Given the description of an element on the screen output the (x, y) to click on. 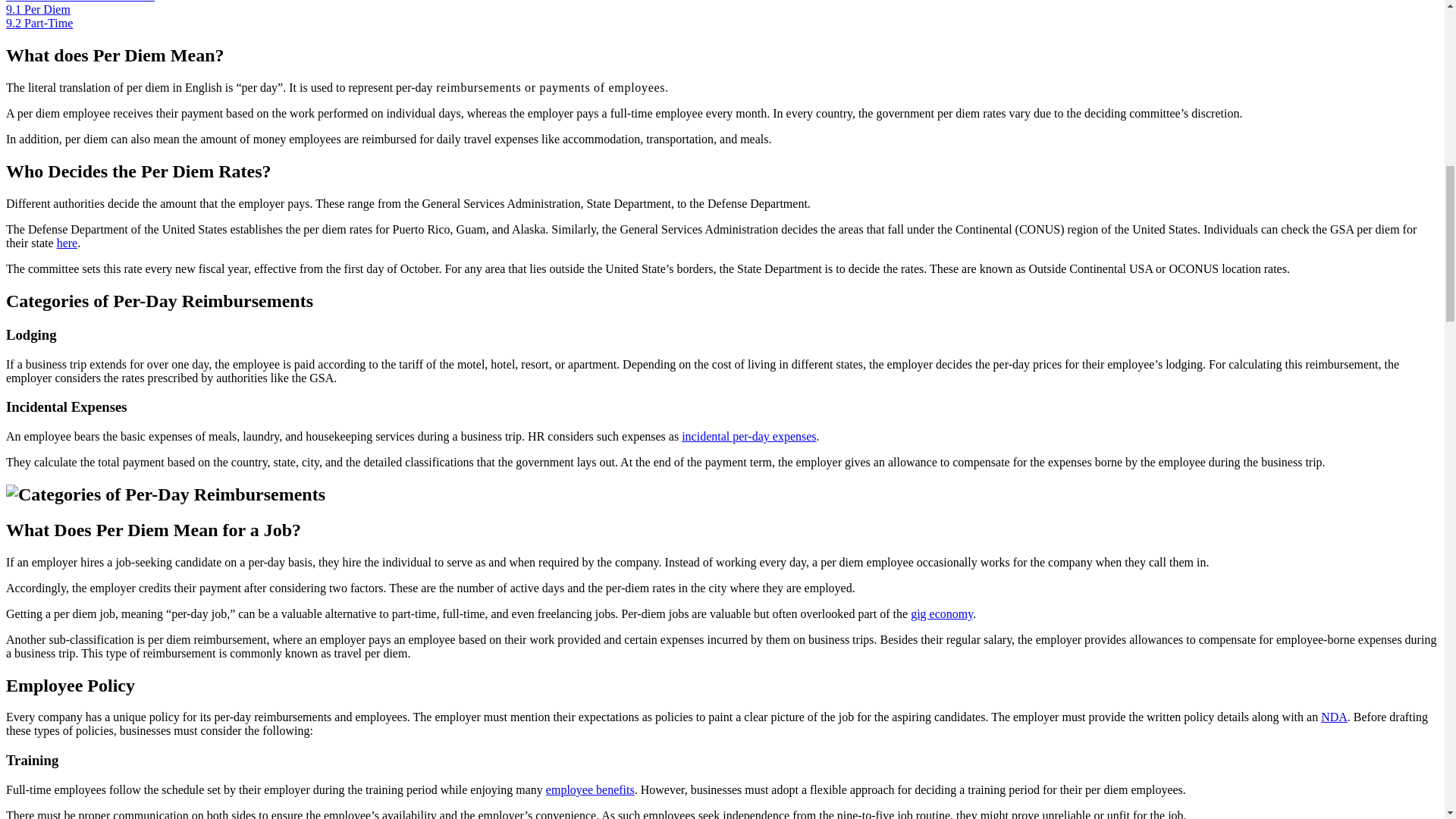
gig economy (941, 613)
9.1 Per Diem (37, 9)
9 Per Diem vs. Part-Time Jobs (79, 1)
employee benefits (590, 789)
incidental per-day expenses (748, 436)
9.2 Part-Time (38, 22)
NDA (1334, 716)
here (67, 242)
